Given the description of an element on the screen output the (x, y) to click on. 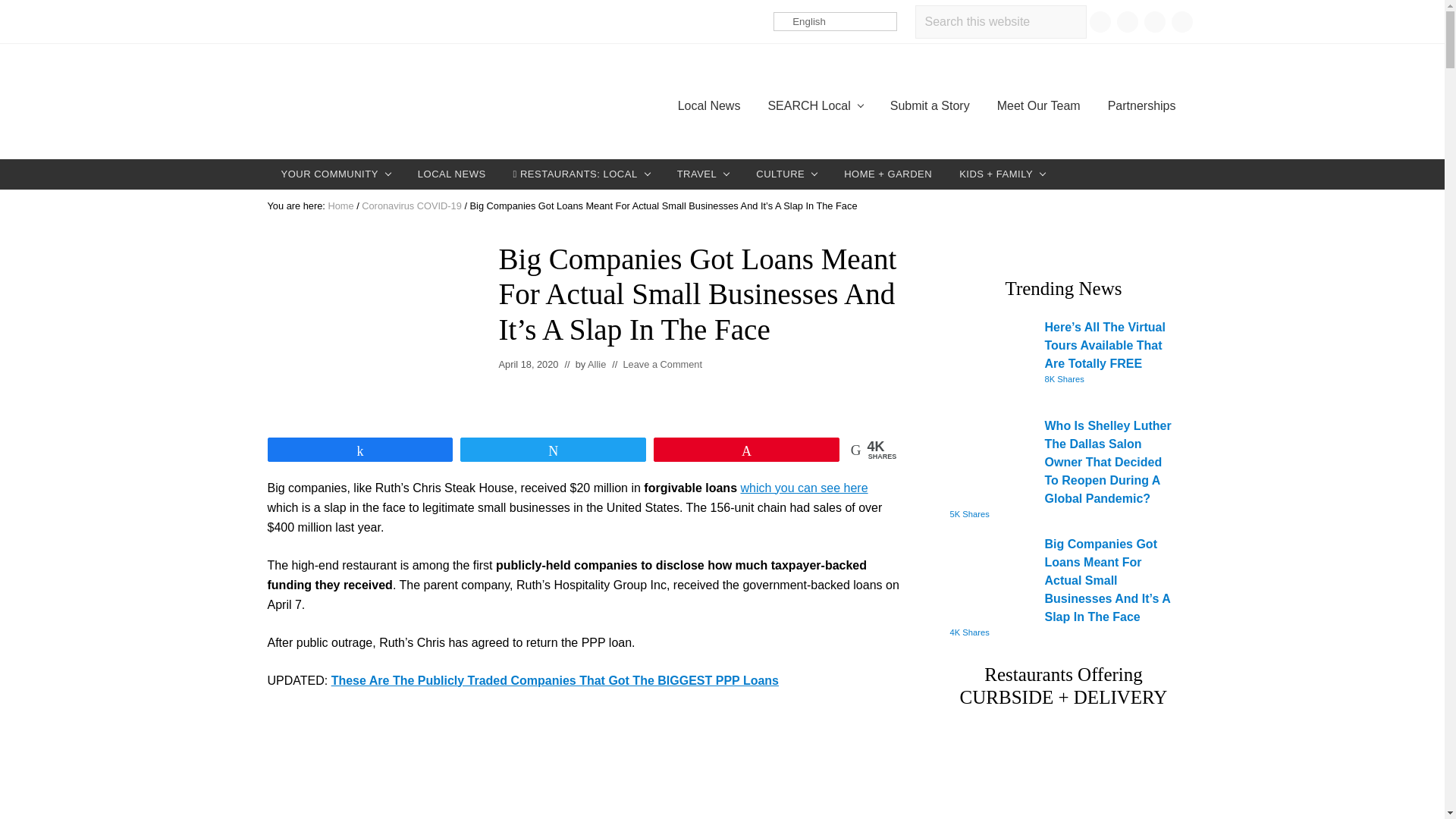
Twitter (1154, 21)
Leave a Comment (662, 364)
YouTube (1181, 21)
Instagram (1126, 21)
Facebook (1099, 21)
